Given the description of an element on the screen output the (x, y) to click on. 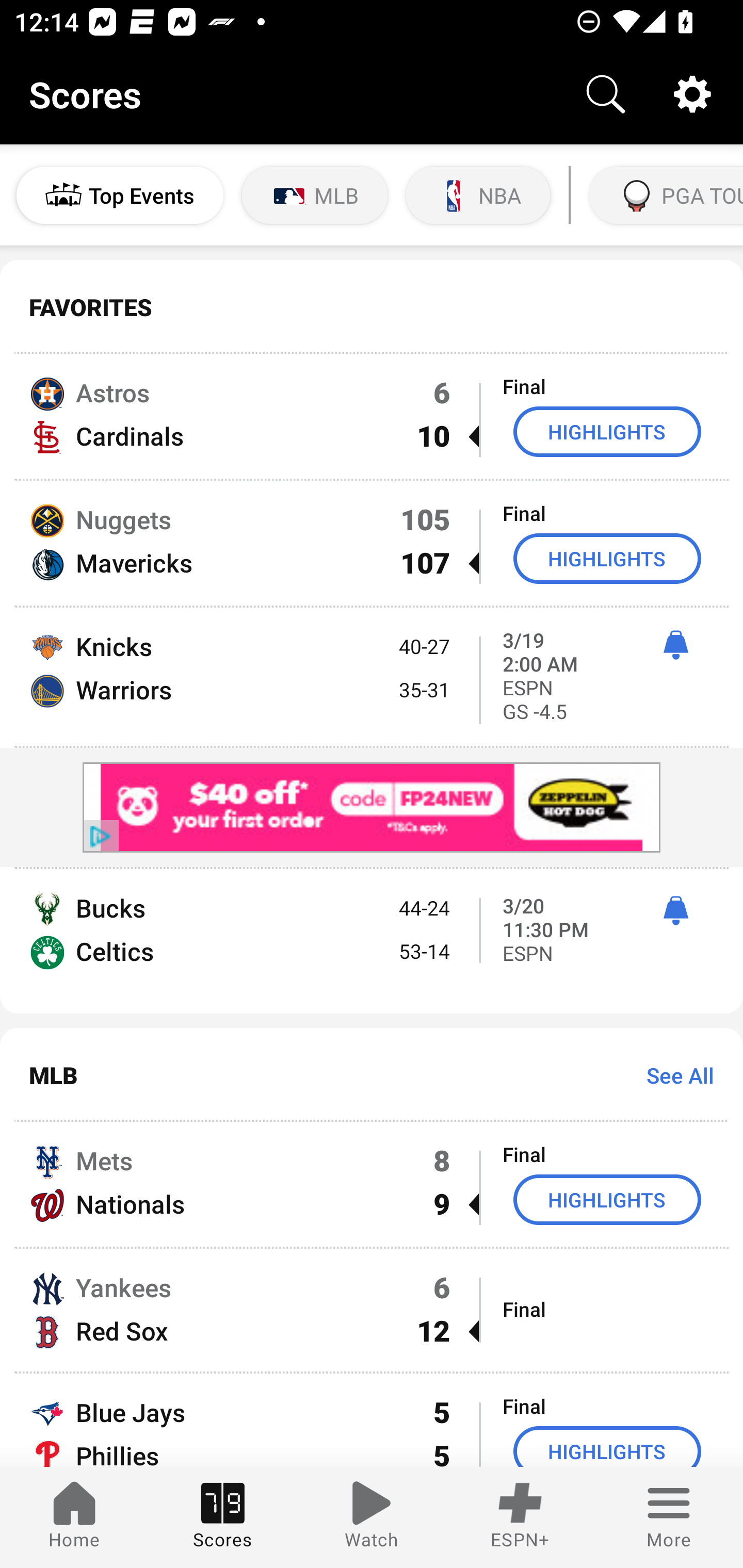
Search (605, 93)
Settings (692, 93)
 Top Events (119, 194)
MLB (314, 194)
NBA (477, 194)
PGA TOUR (664, 194)
FAVORITES (371, 307)
Astros 6 Final Cardinals 10  HIGHLIGHTS (371, 416)
HIGHLIGHTS (607, 431)
Nuggets 105 Final Mavericks 107  HIGHLIGHTS (371, 543)
HIGHLIGHTS (607, 558)
ì (675, 644)
bfb536ade14a689be5d5 (371, 807)
Bucks 44-24 Celtics 53-14 3/20 11:30 PM ì ESPN (371, 940)
ì (675, 910)
MLB See All (371, 1074)
See All (673, 1074)
Mets 8 Final Nationals 9  HIGHLIGHTS (371, 1183)
HIGHLIGHTS (607, 1199)
Yankees 6 Red Sox 12  Final (371, 1310)
Blue Jays 5 Final Phillies 5 HIGHLIGHTS (371, 1420)
HIGHLIGHTS (607, 1446)
Home (74, 1517)
Watch (371, 1517)
ESPN+ (519, 1517)
More (668, 1517)
